Given the description of an element on the screen output the (x, y) to click on. 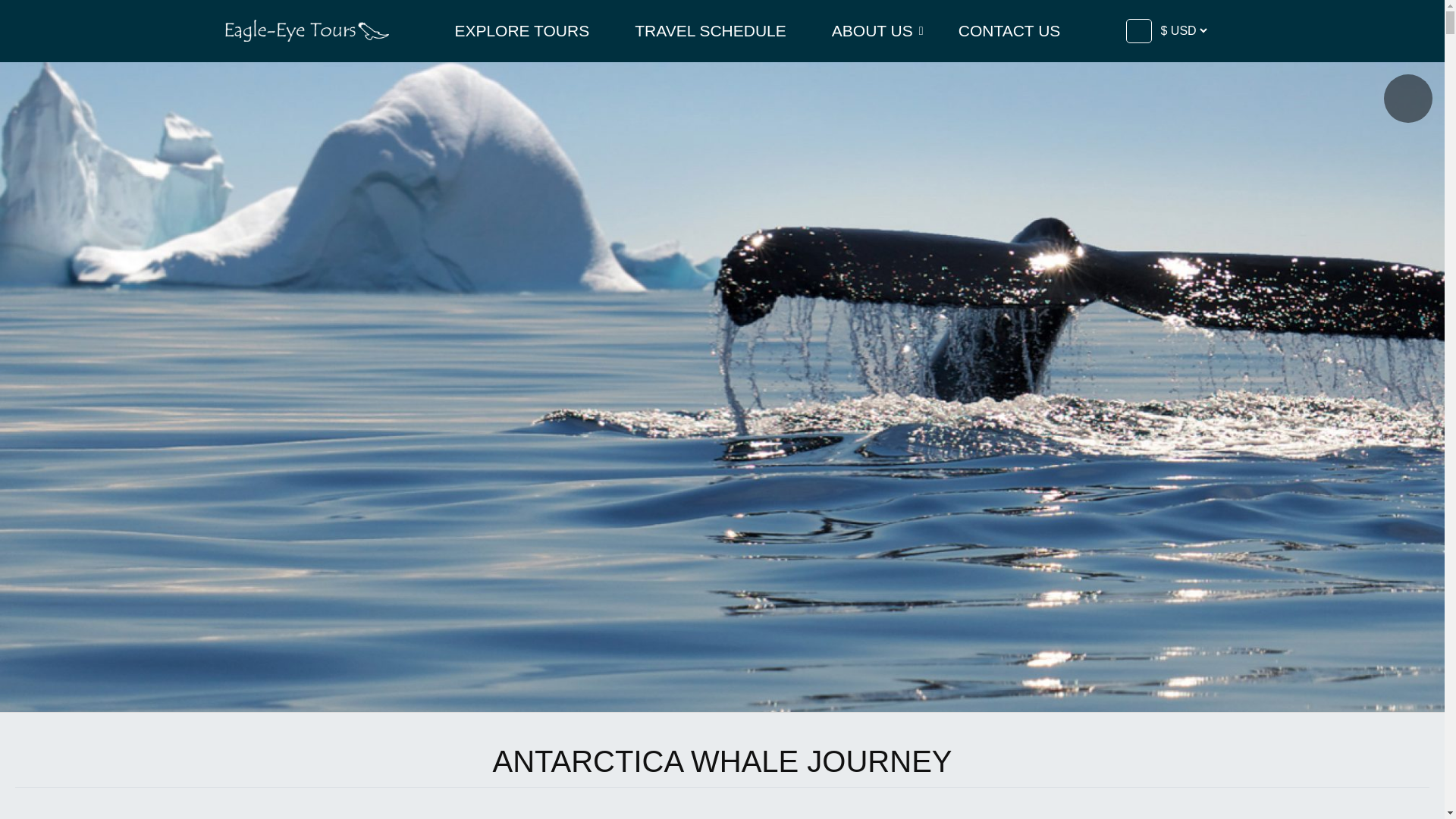
TRAVEL SCHEDULE (710, 30)
ABOUT US (872, 30)
Add this tour to your Favourites (1408, 98)
EXPLORE TOURS (520, 30)
